Given the description of an element on the screen output the (x, y) to click on. 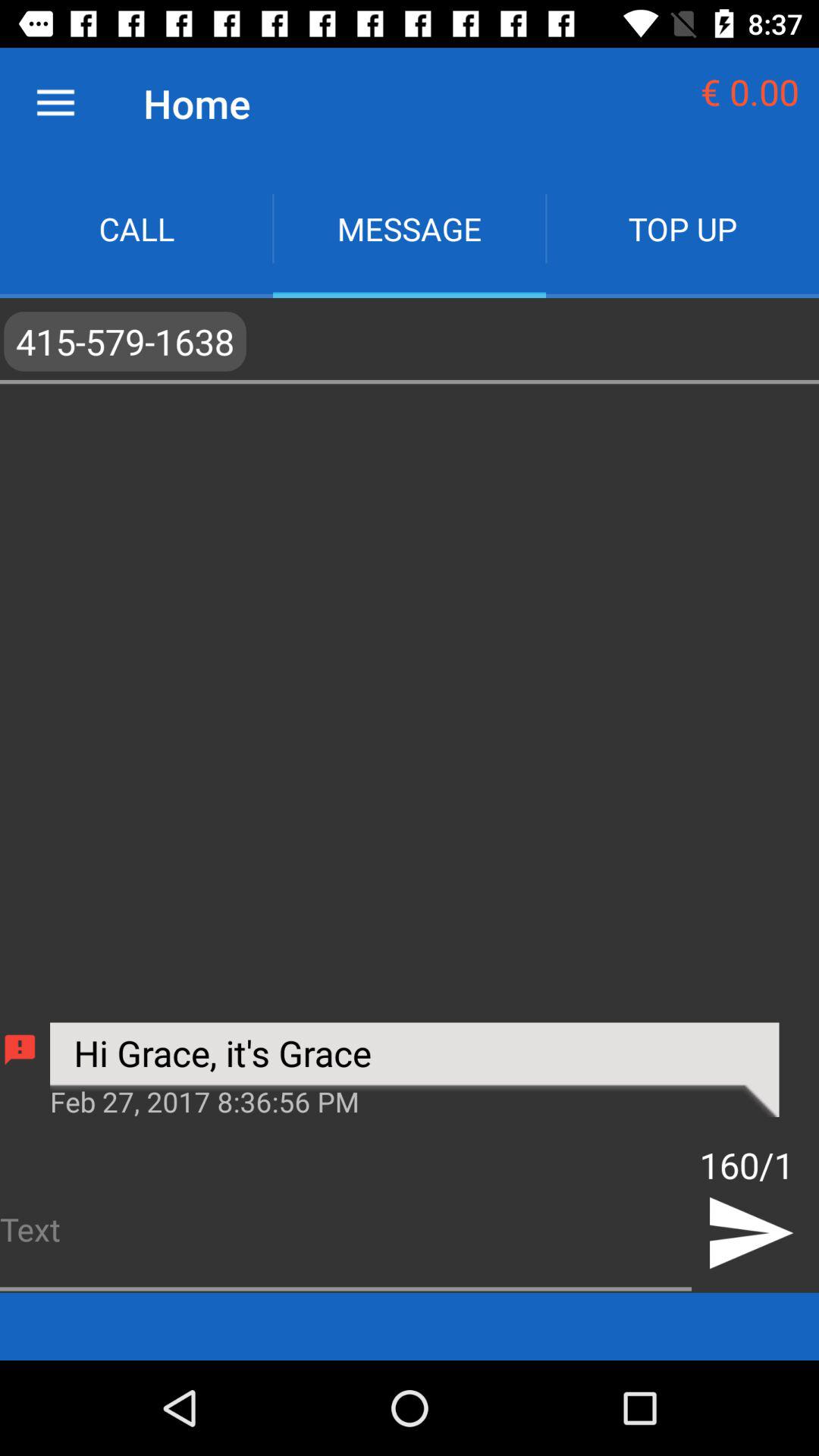
tap icon to the left of home (55, 103)
